Given the description of an element on the screen output the (x, y) to click on. 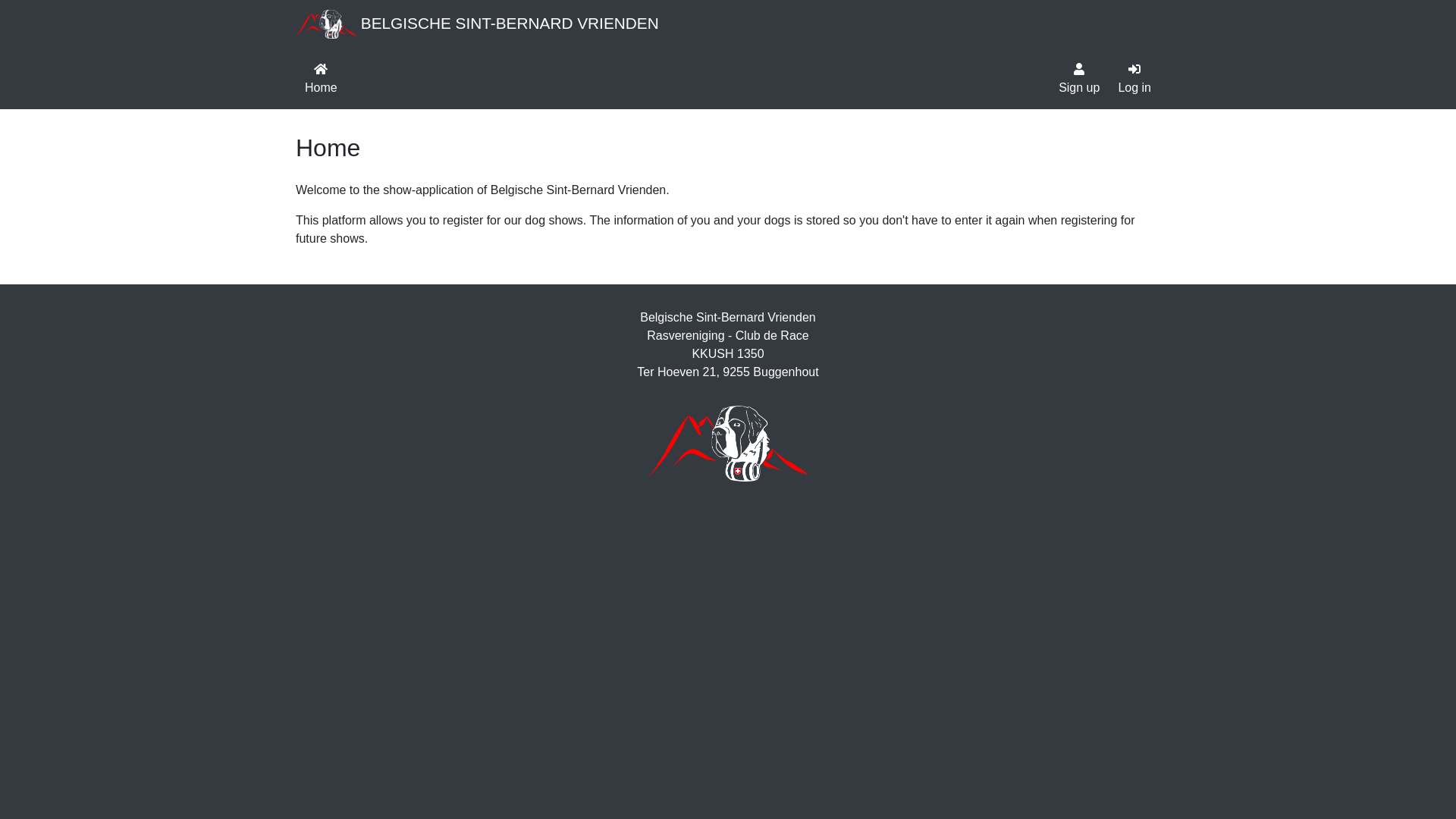
Sign up Element type: text (1078, 78)
Log in Element type: text (1134, 78)
Home Element type: text (320, 78)
